Given the description of an element on the screen output the (x, y) to click on. 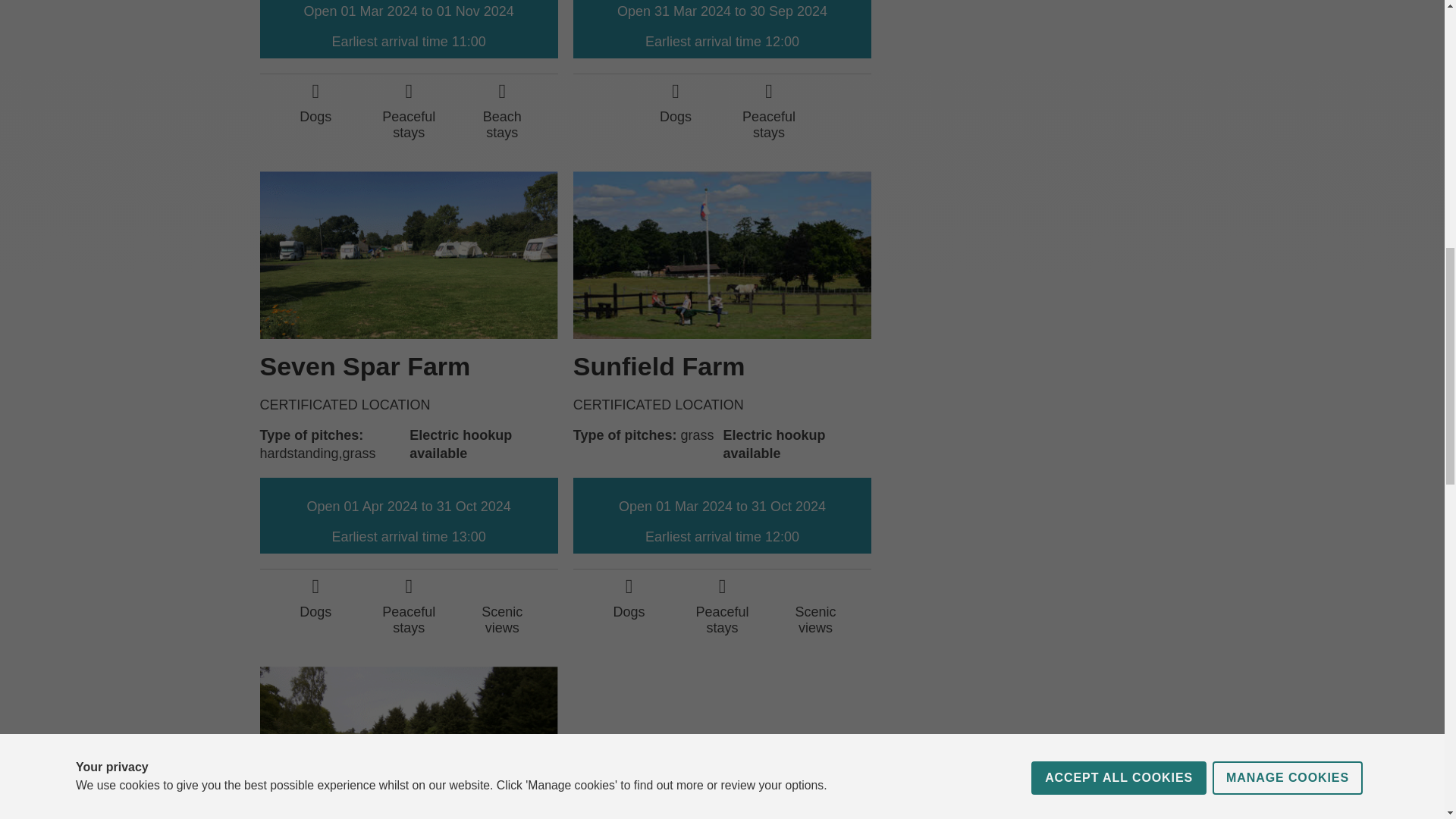
ACCEPT ALL COOKIES (1118, 32)
Seven Spar Farm (364, 366)
MANAGE COOKIES (1287, 17)
Sunfield Farm (659, 366)
